Given the description of an element on the screen output the (x, y) to click on. 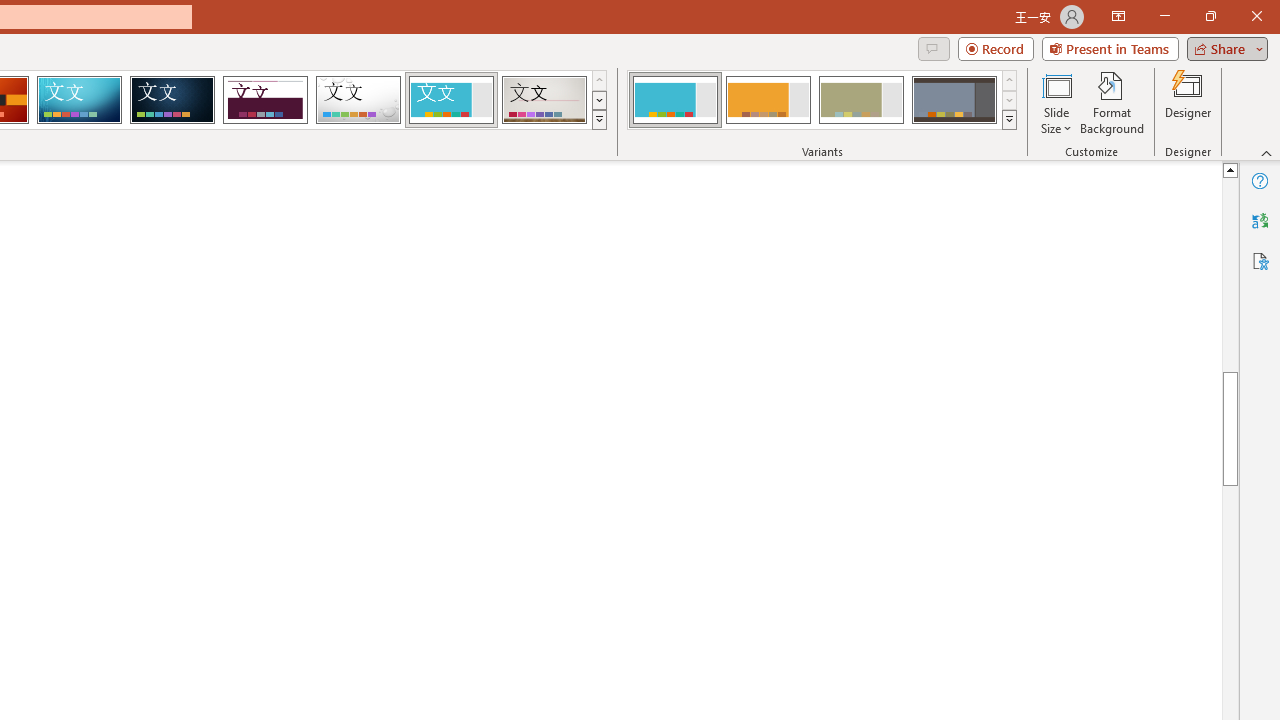
Circuit (79, 100)
TextBox 61 (742, 407)
Format Background (1111, 102)
